Given the description of an element on the screen output the (x, y) to click on. 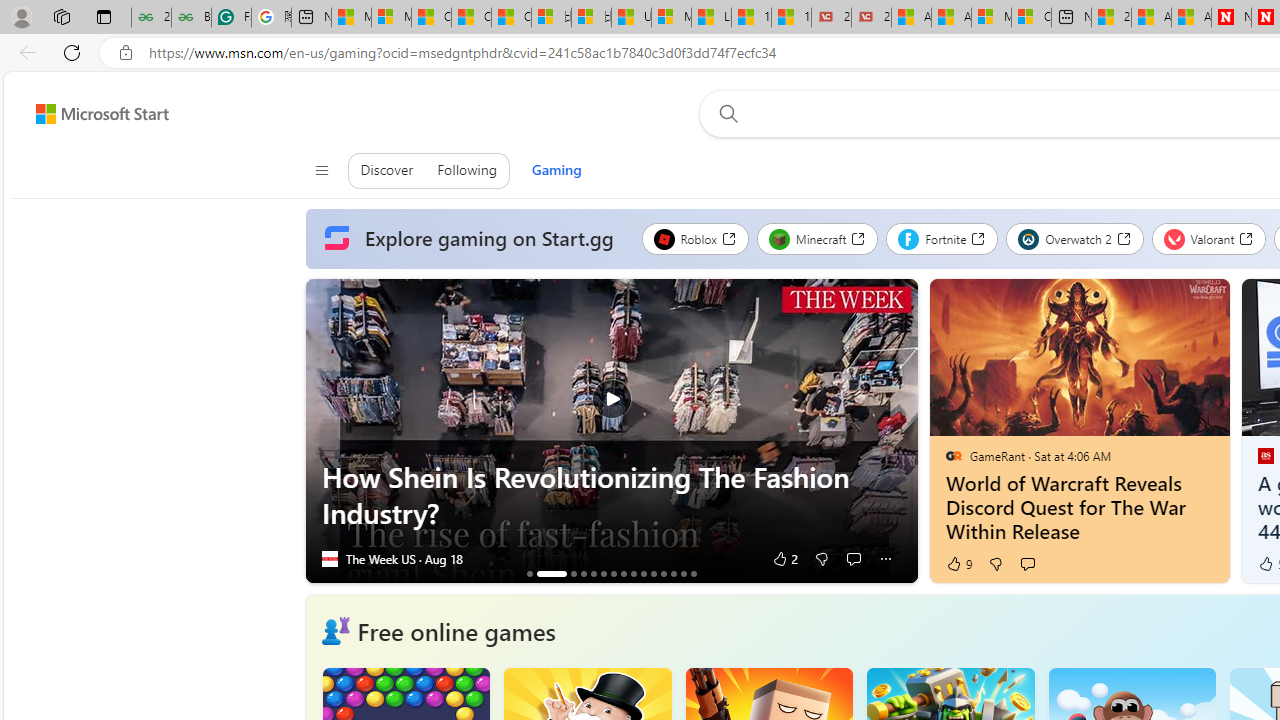
The Week US (329, 558)
Fortnite (942, 238)
Overwatch 2 (1075, 238)
AutomationID: casualCarouselIcon (335, 631)
USA TODAY - MSN (631, 17)
How Shein Is Revolutionizing The Fashion Industry? (551, 573)
Cloud Computing Services | Microsoft Azure (1031, 17)
Free online games (456, 630)
